Given the description of an element on the screen output the (x, y) to click on. 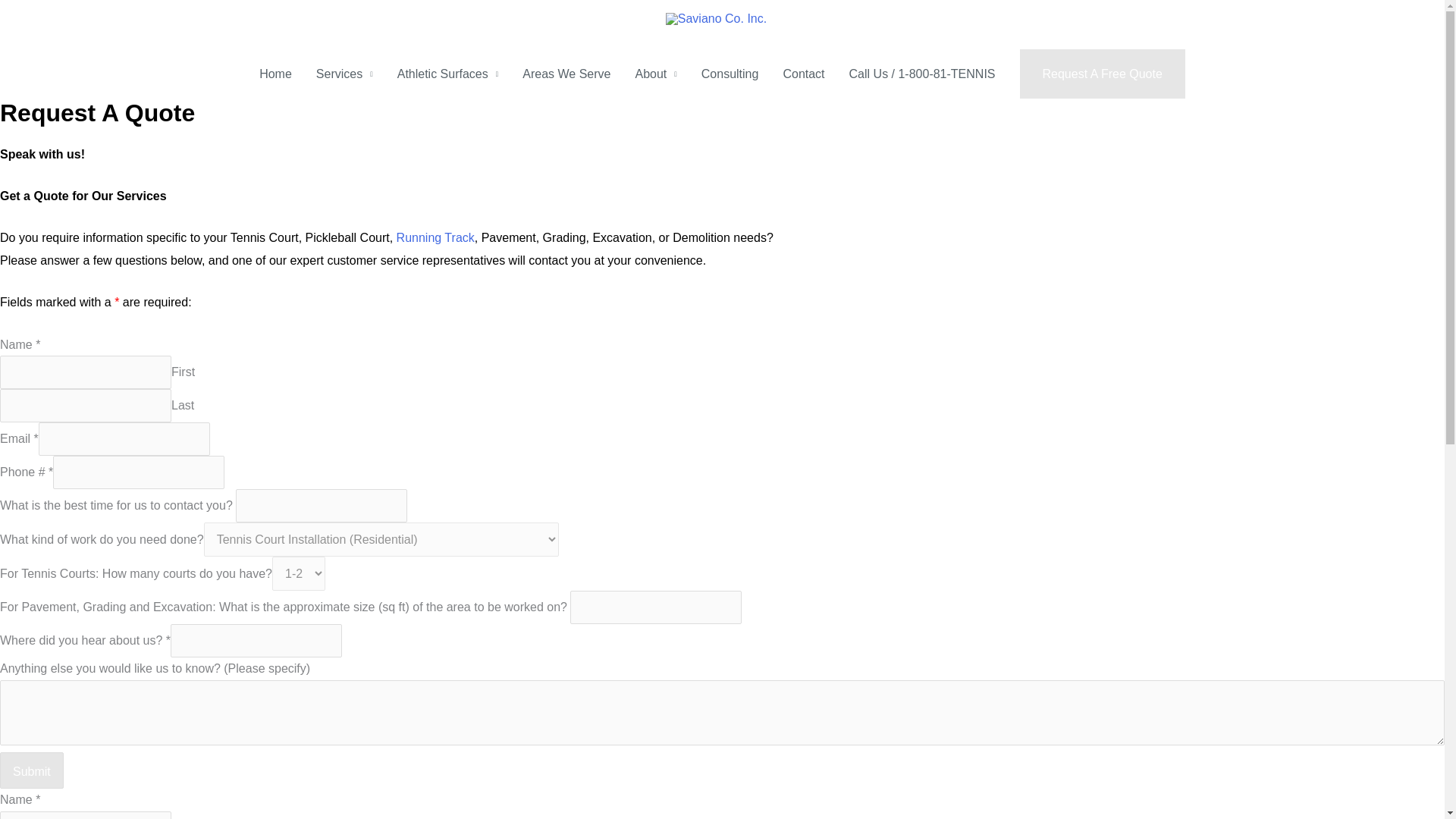
Consulting (729, 74)
Areas We Serve (567, 74)
About (655, 74)
Services (344, 74)
Running Track (435, 237)
Submit (32, 770)
Athletic Surfaces (448, 74)
Home (275, 74)
Request A Free Quote (1102, 74)
Contact (802, 74)
